Given the description of an element on the screen output the (x, y) to click on. 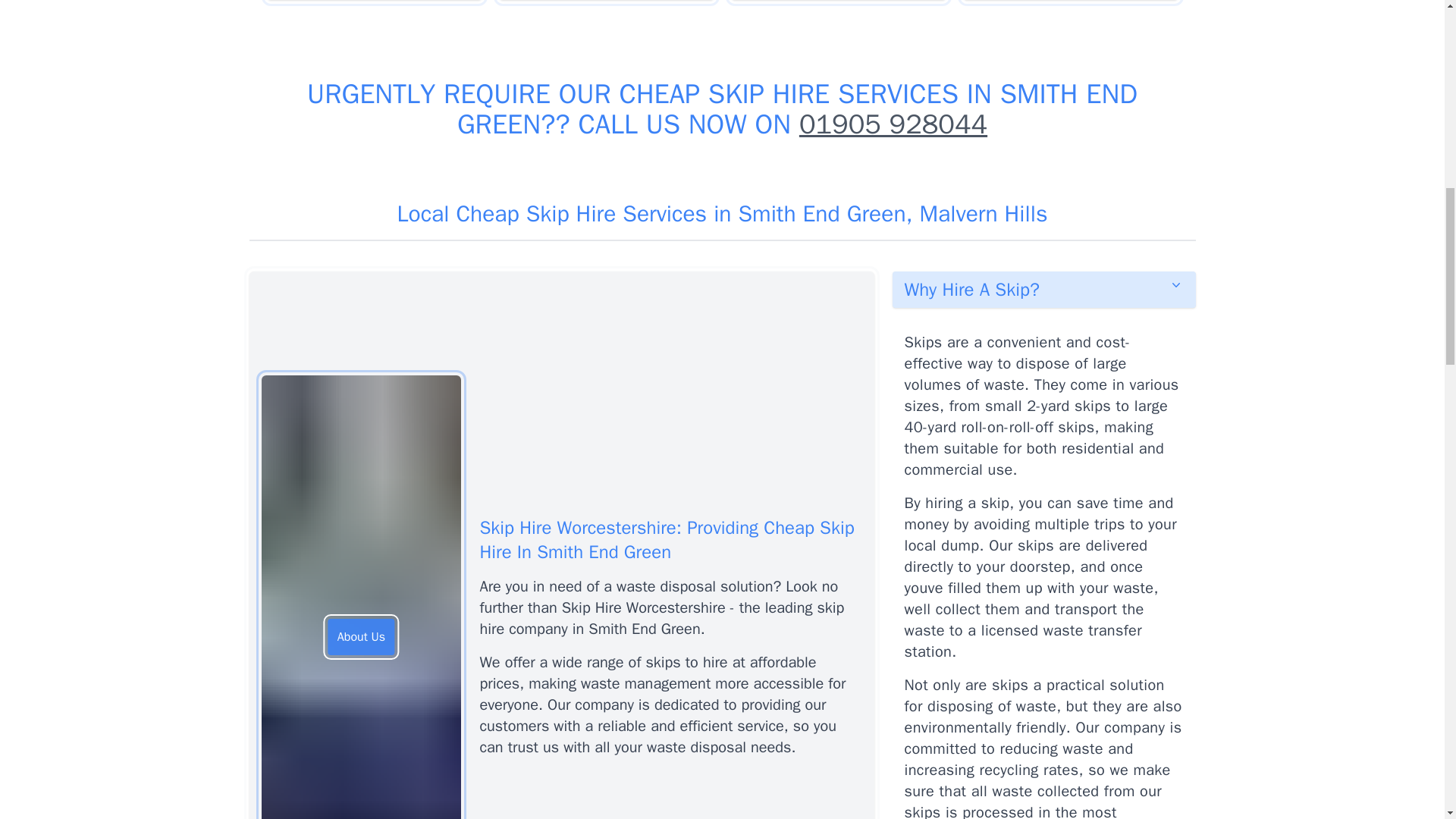
About Us (361, 637)
01905 928044 (893, 124)
Why Hire A Skip? (1043, 289)
